Given the description of an element on the screen output the (x, y) to click on. 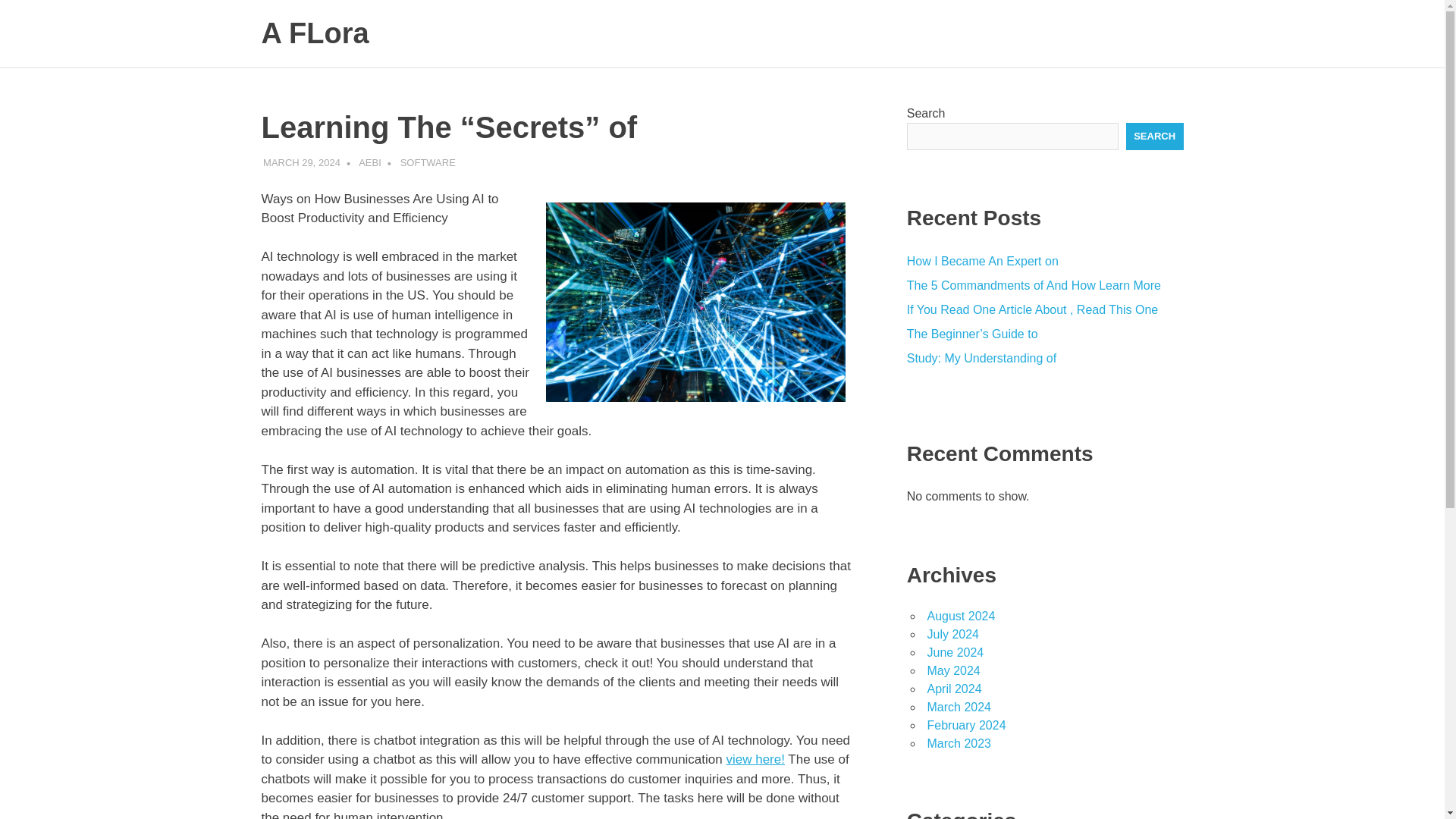
SEARCH (1154, 135)
How I Became An Expert on (982, 260)
April 2024 (953, 688)
March 2024 (958, 707)
Study: My Understanding of (982, 358)
A FLora (314, 33)
The 5 Commandments of And How Learn More (1033, 285)
4:18 am (301, 161)
View all posts by aebi (369, 161)
MARCH 29, 2024 (301, 161)
